Given the description of an element on the screen output the (x, y) to click on. 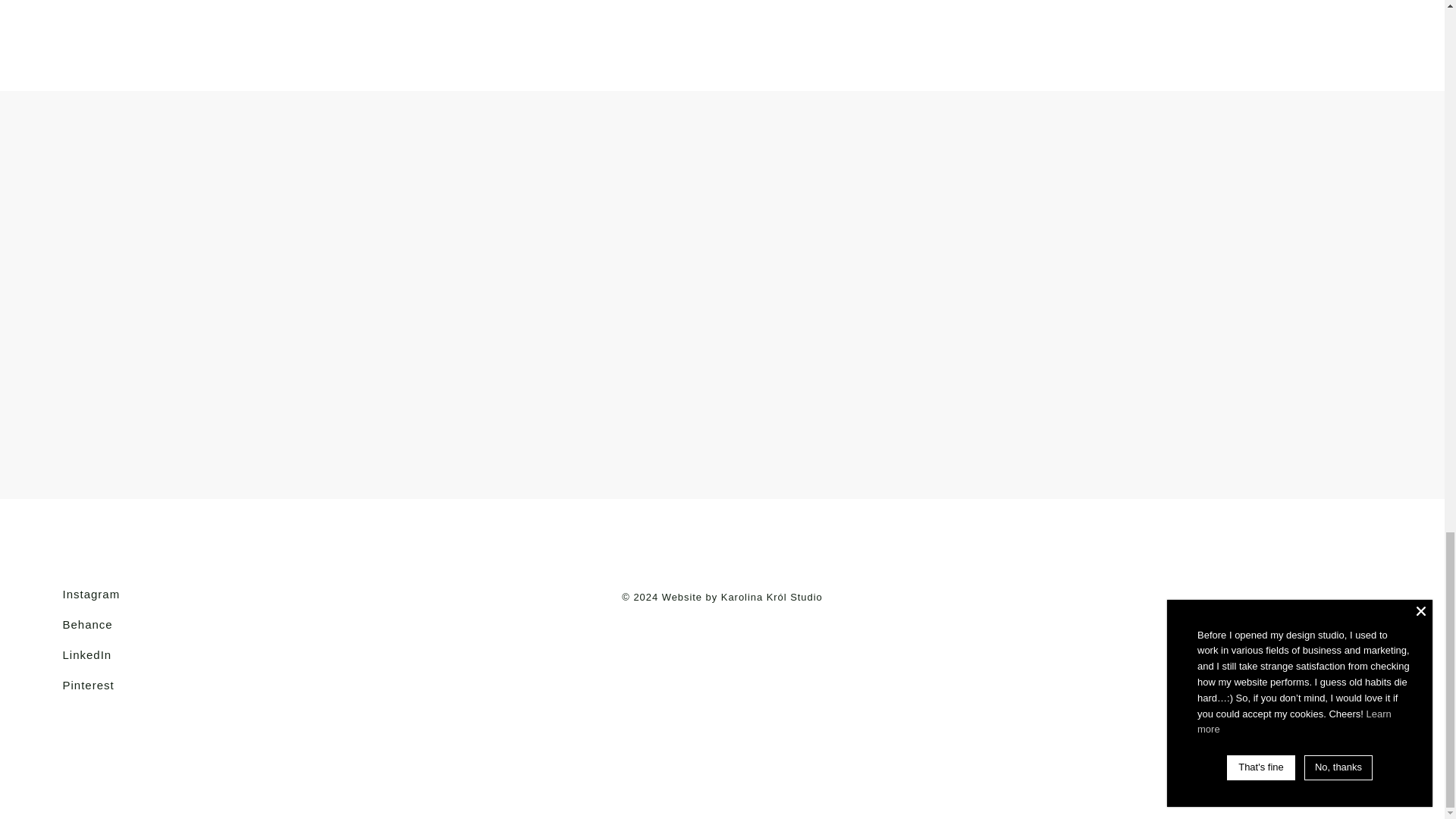
Instagram (91, 594)
Pinterest (87, 685)
LinkedIn (87, 654)
Behance (87, 624)
